Given the description of an element on the screen output the (x, y) to click on. 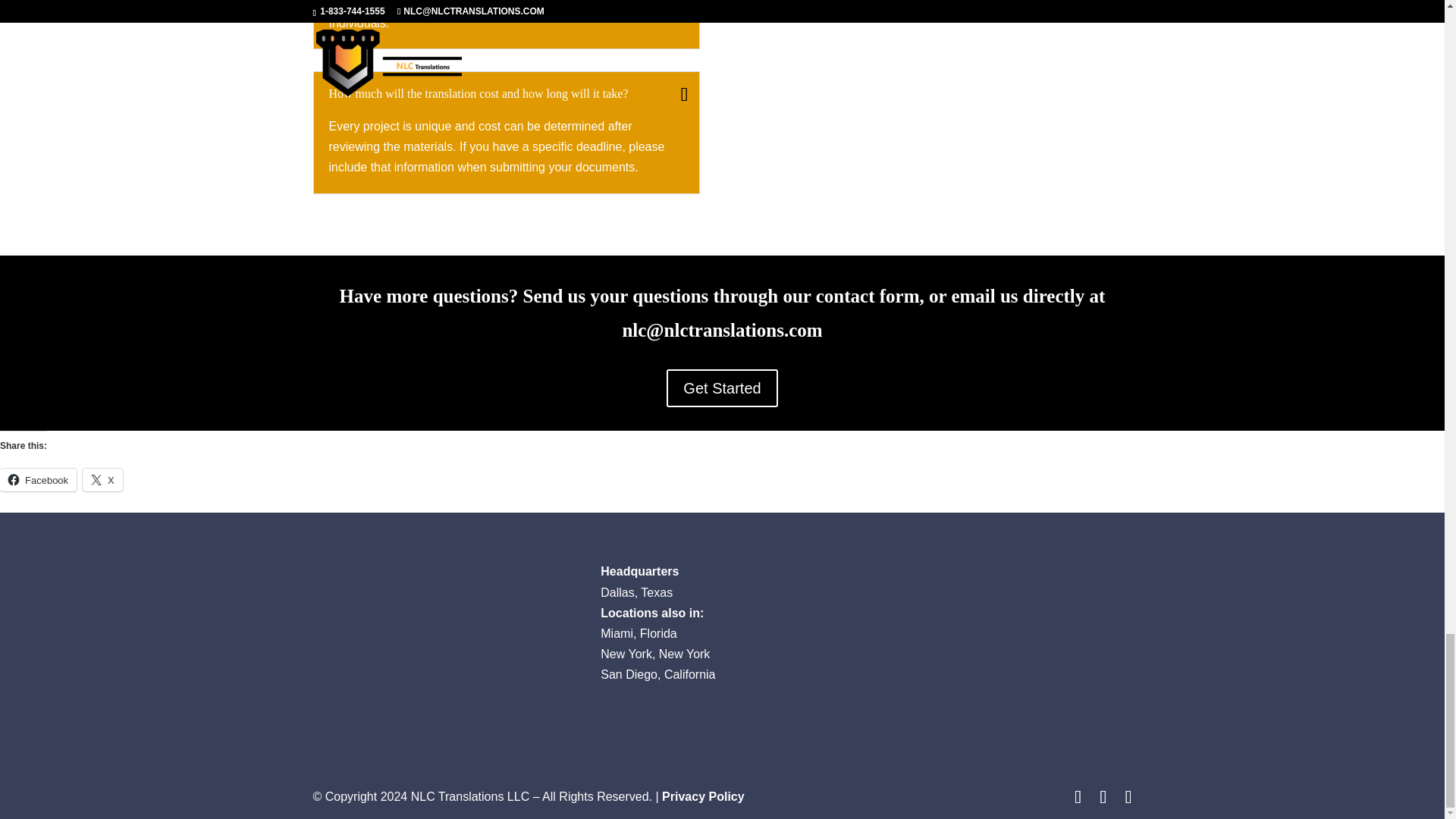
Click to share on X (102, 479)
Get Started (721, 388)
Facebook (38, 479)
Click to share on Facebook (38, 479)
X (102, 479)
